Given the description of an element on the screen output the (x, y) to click on. 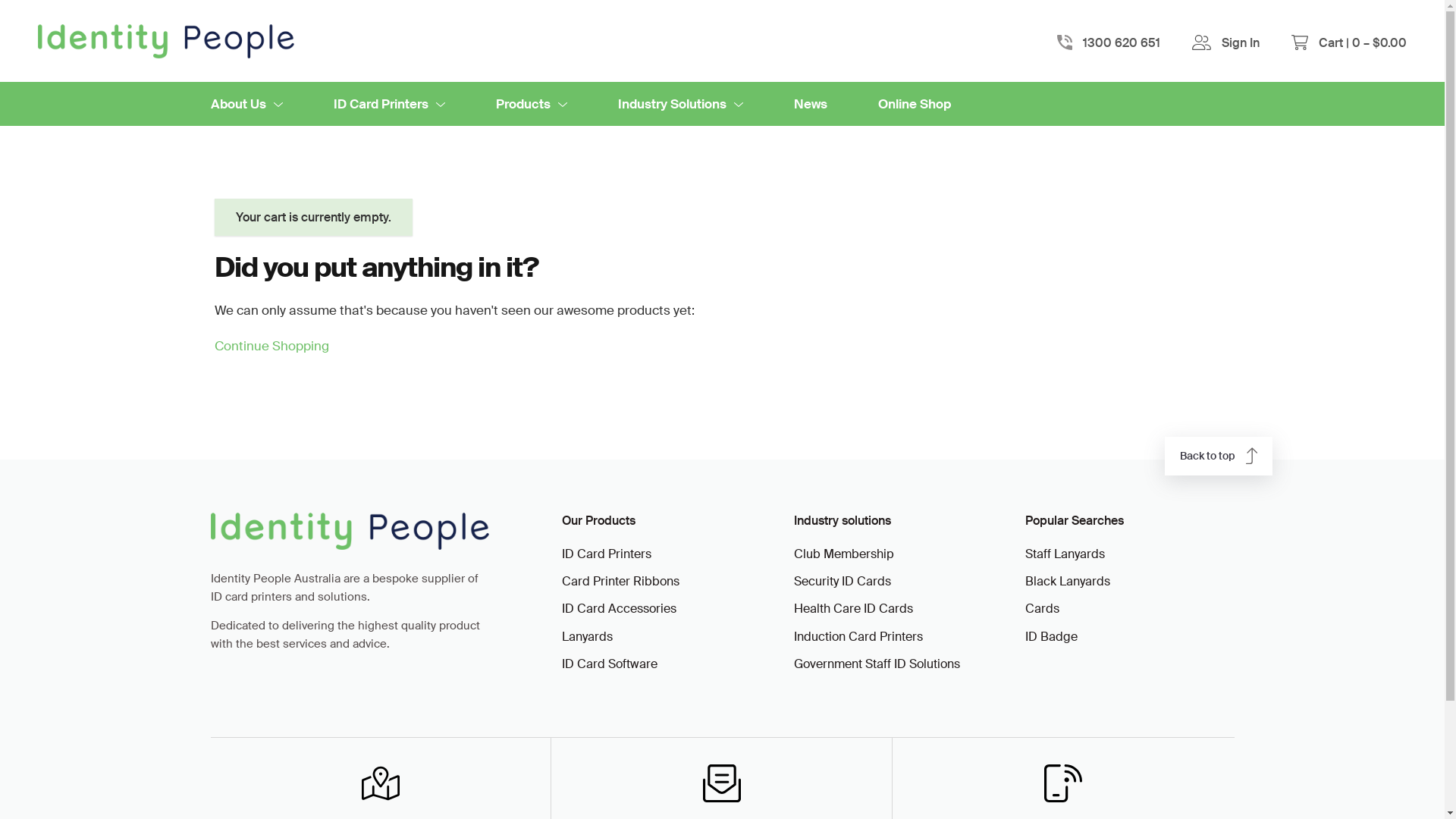
ID Badge Element type: text (1125, 636)
Health Care ID Cards Element type: text (894, 608)
Lanyards Element type: text (662, 636)
ID Card Printers Element type: text (389, 103)
Induction Card Printers Element type: text (894, 636)
Card Printer Ribbons Element type: text (662, 581)
Online Shop Element type: text (914, 103)
ID Card Software Element type: text (662, 663)
Products Element type: text (531, 103)
Sign In Element type: text (1240, 42)
1300 620 651 Element type: text (1121, 41)
Back to top Element type: text (1218, 455)
Club Membership Element type: text (894, 554)
Black Lanyards Element type: text (1125, 581)
News Element type: text (809, 103)
About Us Element type: text (246, 103)
Industry Solutions Element type: text (679, 103)
ID Card Accessories Element type: text (662, 608)
Staff Lanyards Element type: text (1125, 554)
Continue Shopping Element type: text (270, 345)
Cards Element type: text (1125, 608)
Government Staff ID Solutions Element type: text (894, 663)
ID Card Printers Element type: text (662, 554)
Security ID Cards Element type: text (894, 581)
